Given the description of an element on the screen output the (x, y) to click on. 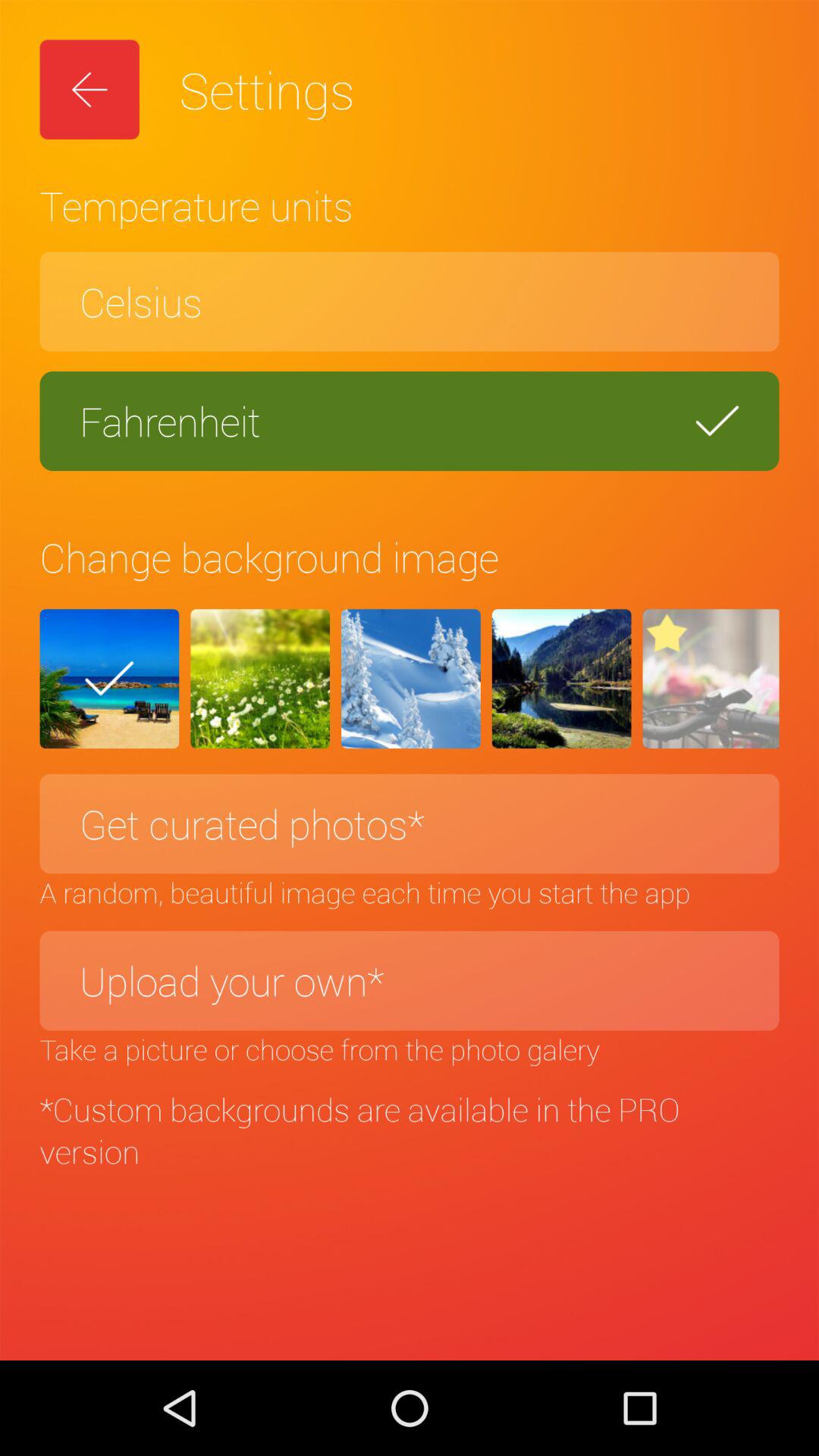
turn on icon above the get curated photos* (259, 678)
